Given the description of an element on the screen output the (x, y) to click on. 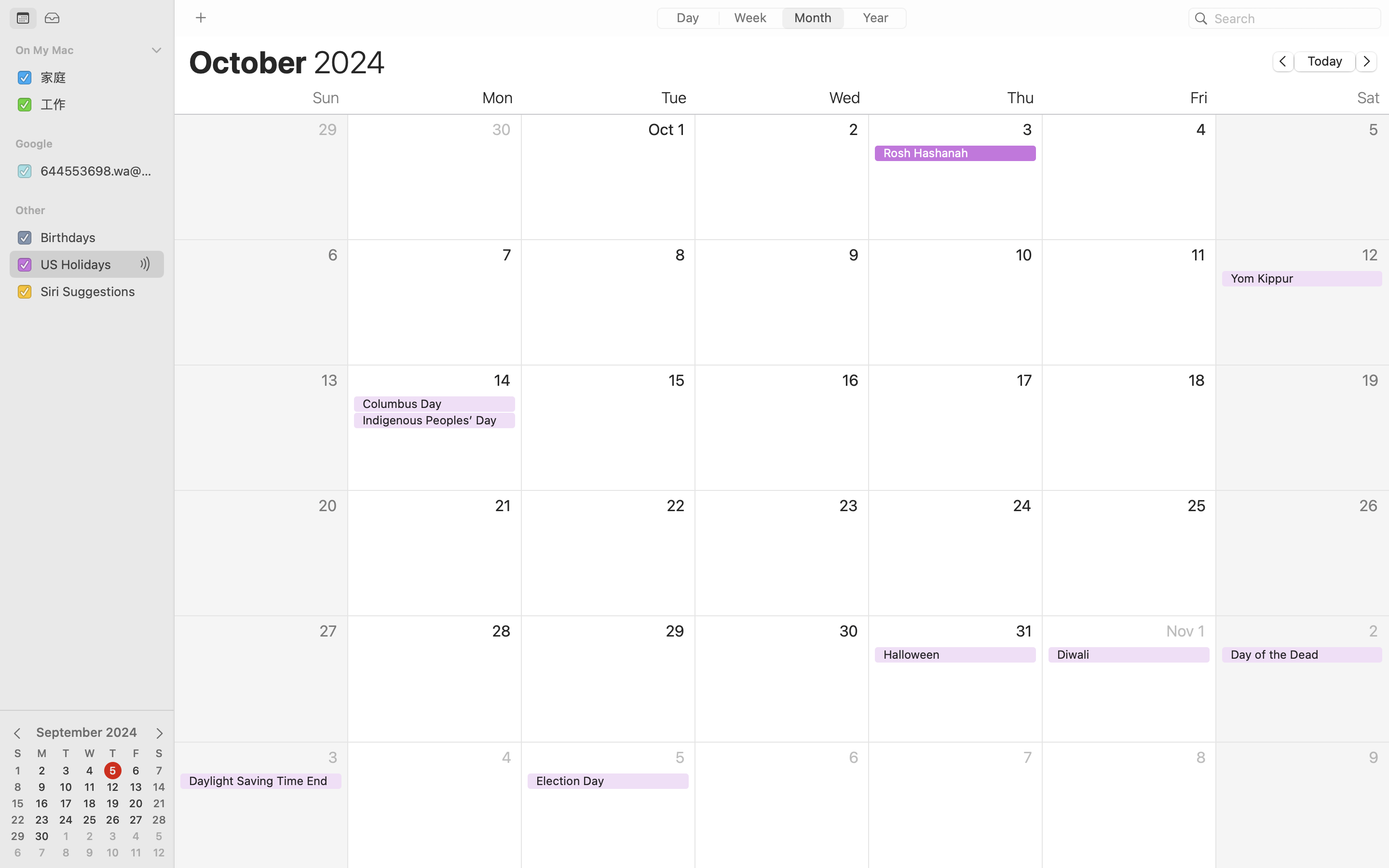
21 Element type: AXStaticText (158, 803)
13 Element type: AXStaticText (135, 787)
Siri Suggestions Element type: AXStaticText (98, 290)
September 2024 Element type: AXStaticText (86, 731)
Other Element type: AXStaticText (92, 210)
